Given the description of an element on the screen output the (x, y) to click on. 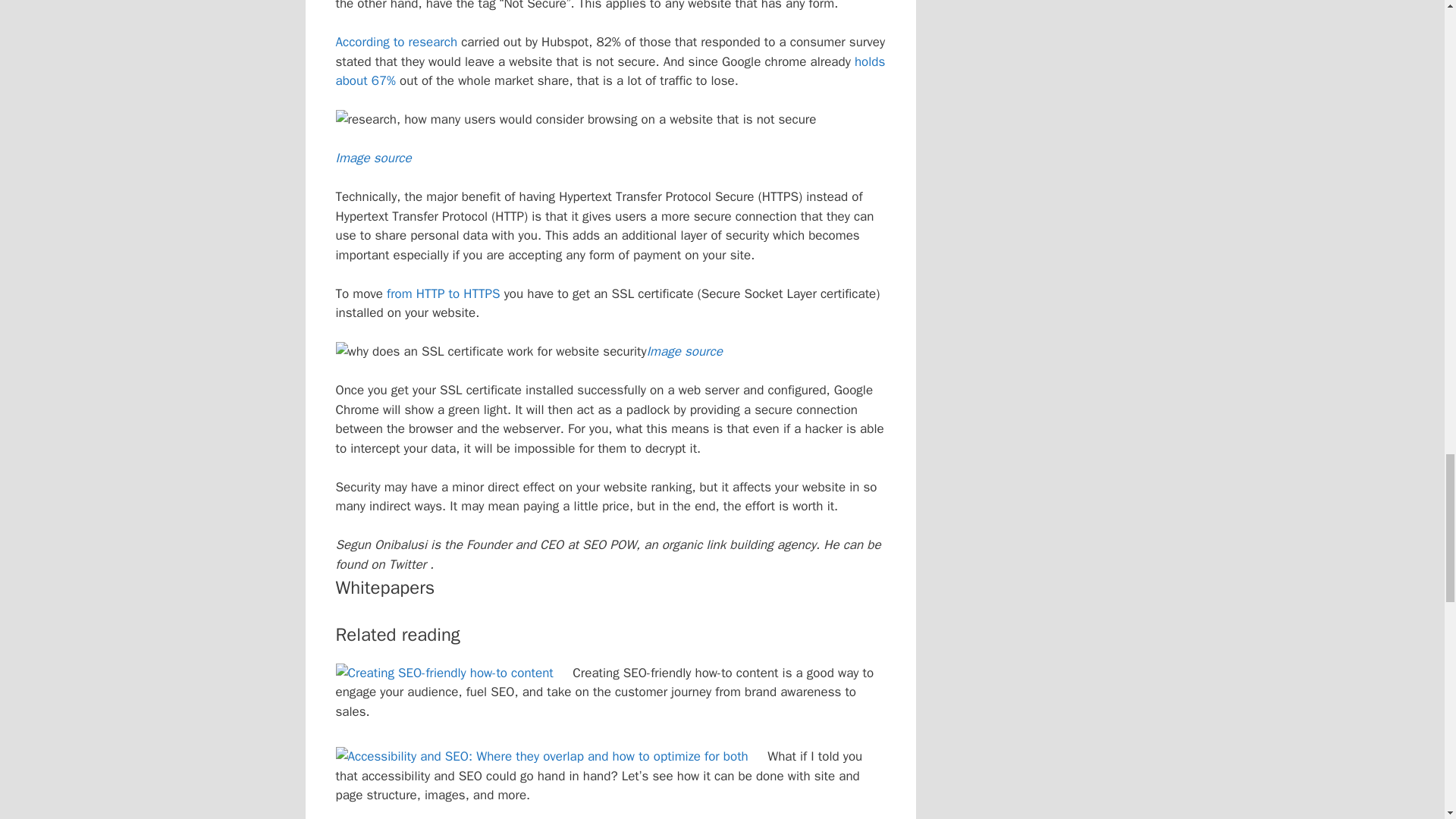
Image source (684, 351)
from HTTP to HTTPS (443, 293)
Image source (372, 157)
According to research (395, 41)
